Given the description of an element on the screen output the (x, y) to click on. 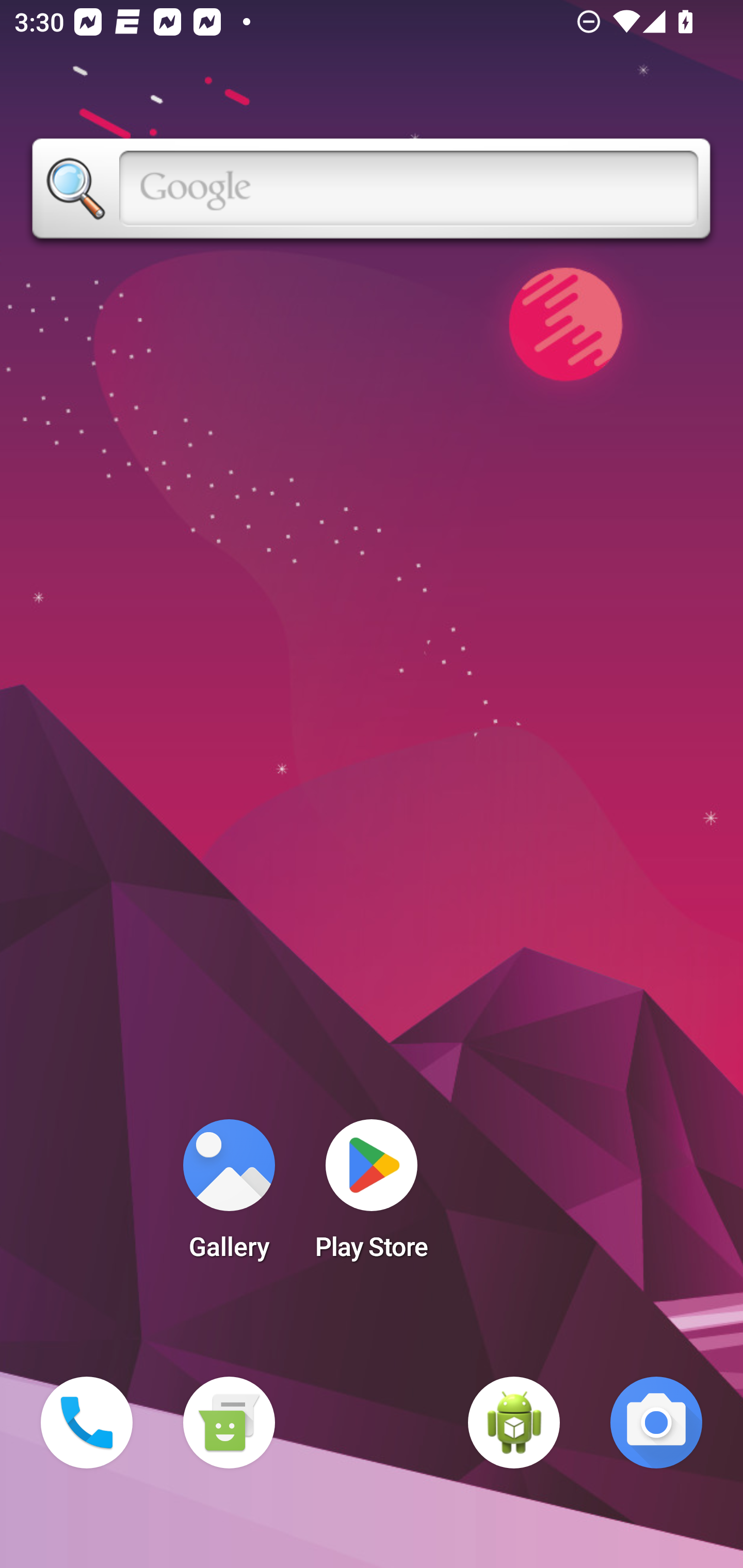
Gallery (228, 1195)
Play Store (371, 1195)
Phone (86, 1422)
Messaging (228, 1422)
WebView Browser Tester (513, 1422)
Camera (656, 1422)
